Given the description of an element on the screen output the (x, y) to click on. 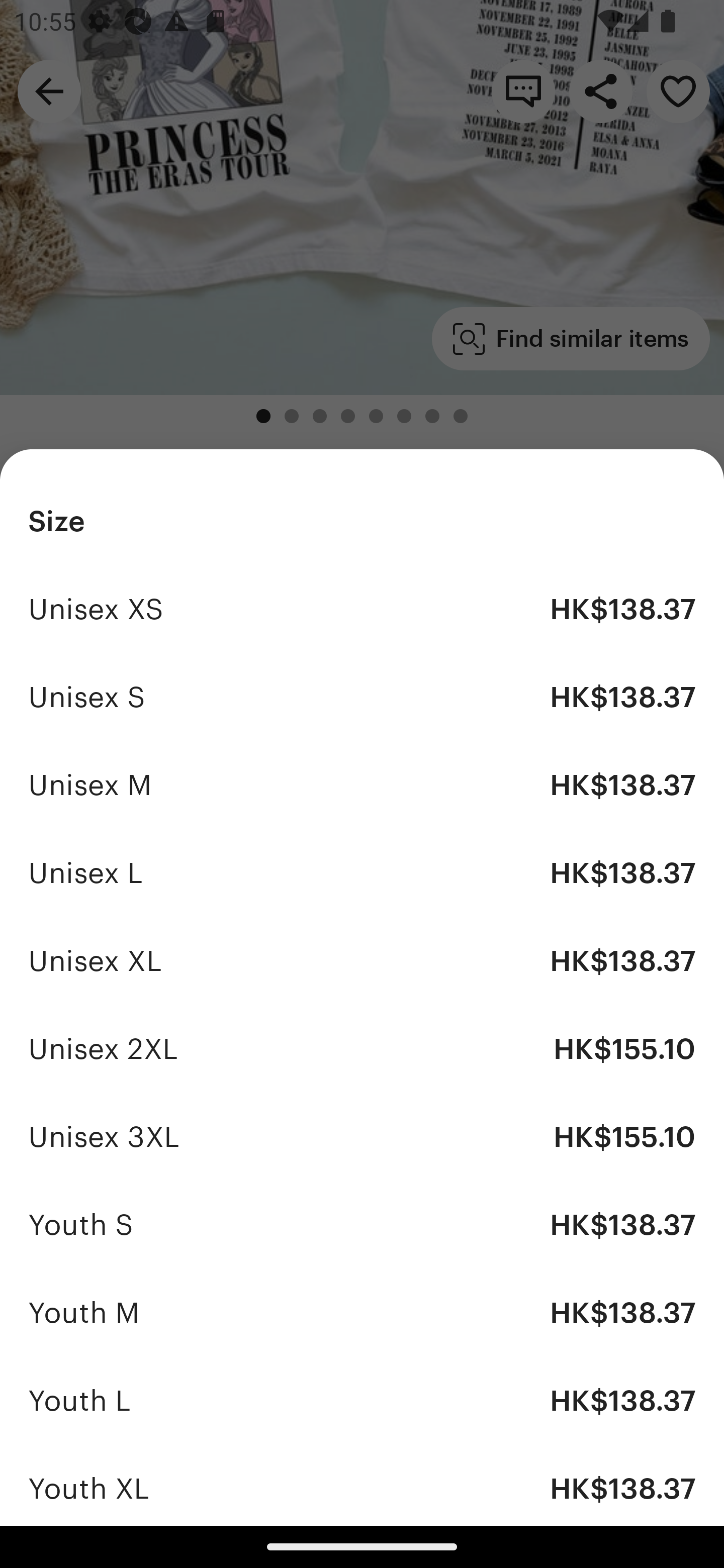
Unisex XS HK$138.37 (362, 609)
Unisex S HK$138.37 (362, 697)
Unisex M HK$138.37 (362, 785)
Unisex L HK$138.37 (362, 873)
Unisex XL HK$138.37 (362, 961)
Unisex 2XL HK$155.10 (362, 1048)
Unisex 3XL HK$155.10 (362, 1136)
Youth S HK$138.37 (362, 1224)
Youth M HK$138.37 (362, 1312)
Youth L HK$138.37 (362, 1400)
Youth XL HK$138.37 (362, 1484)
